Given the description of an element on the screen output the (x, y) to click on. 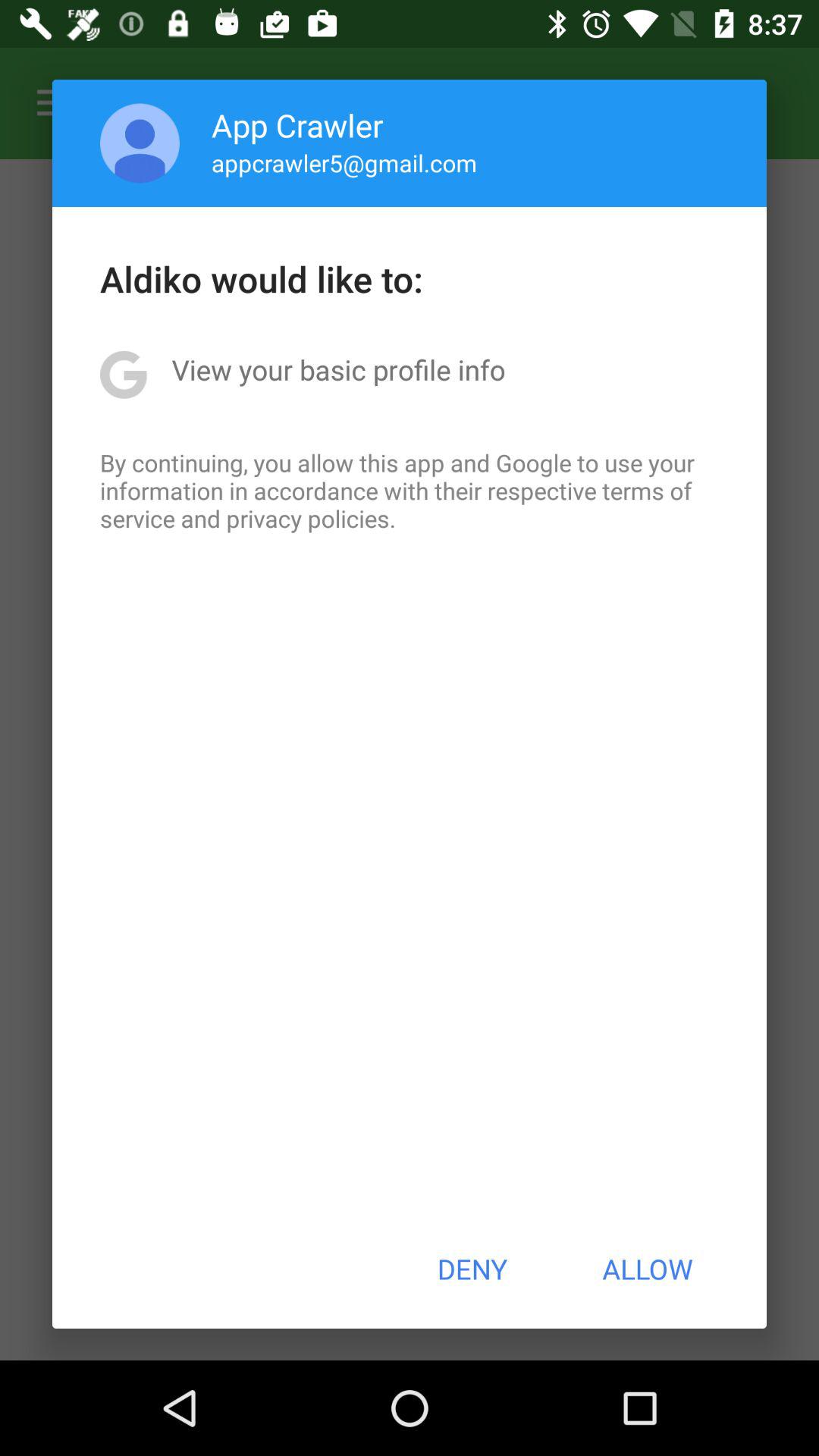
select the item next to the allow item (471, 1268)
